Given the description of an element on the screen output the (x, y) to click on. 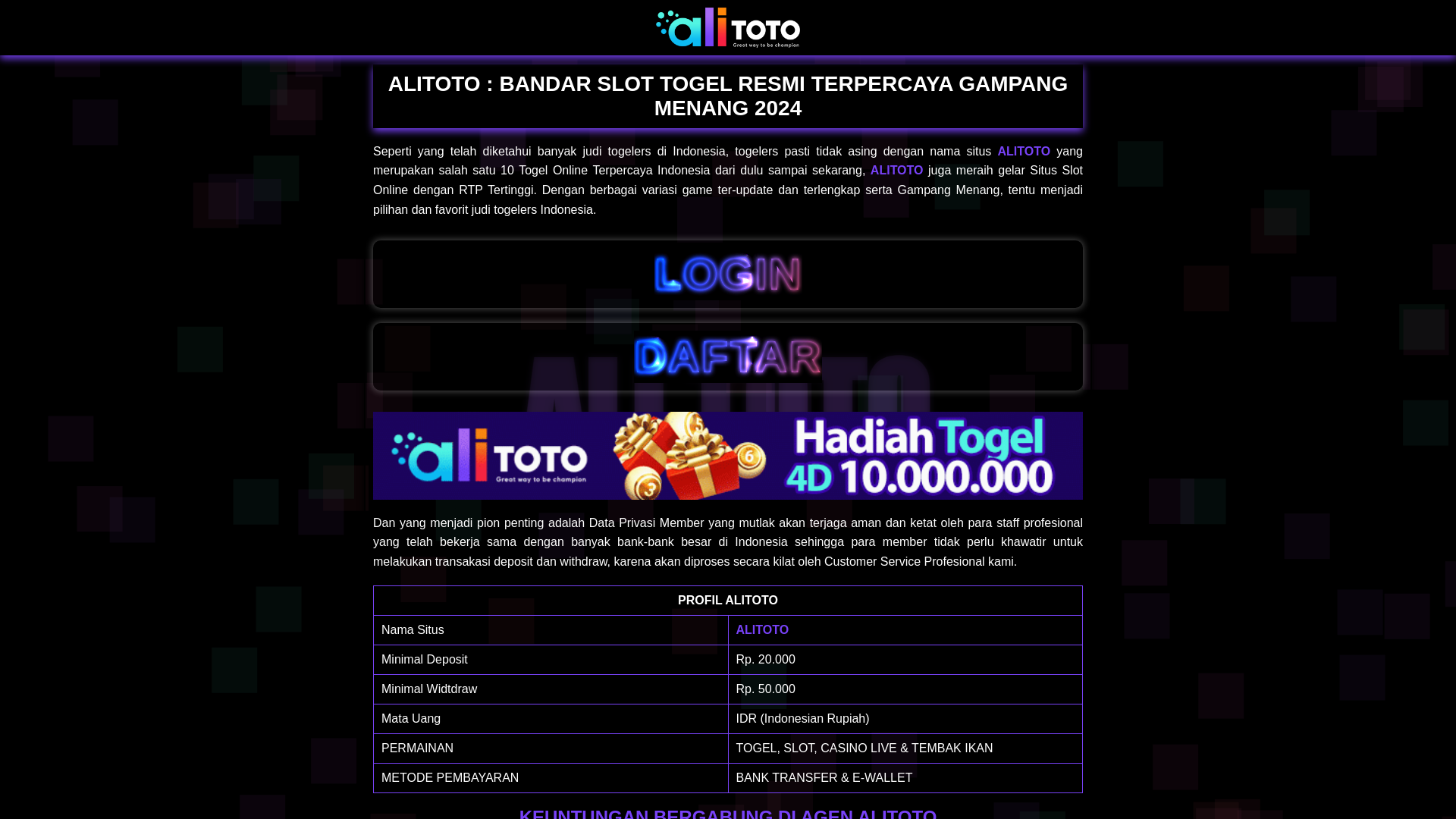
ALITOTO (762, 629)
DAFTAR (727, 356)
LOGIN (727, 273)
